Given the description of an element on the screen output the (x, y) to click on. 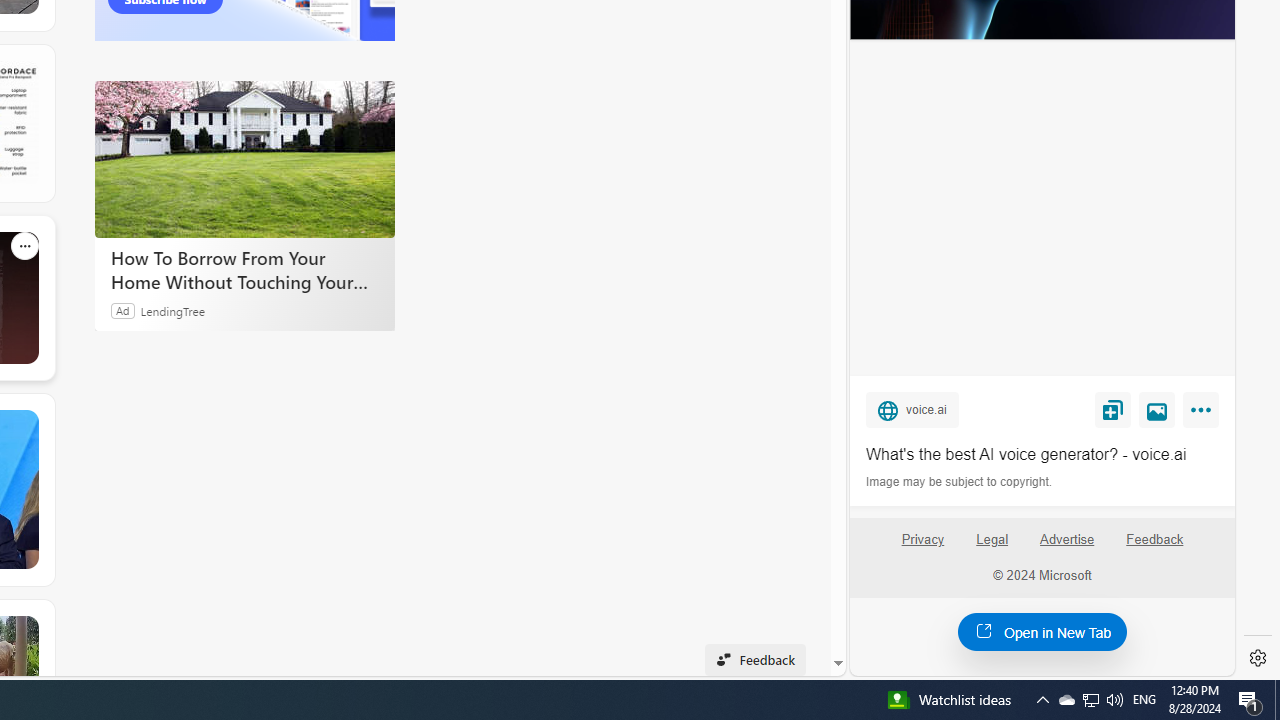
LendingTree (172, 309)
More (1204, 413)
Save (1112, 409)
How To Borrow From Your Home Without Touching Your Mortgage (244, 159)
Privacy (922, 539)
Advertise (1066, 539)
Privacy (922, 547)
How To Borrow From Your Home Without Touching Your Mortgage (244, 269)
voice.ai (912, 409)
View image (1157, 409)
